Given the description of an element on the screen output the (x, y) to click on. 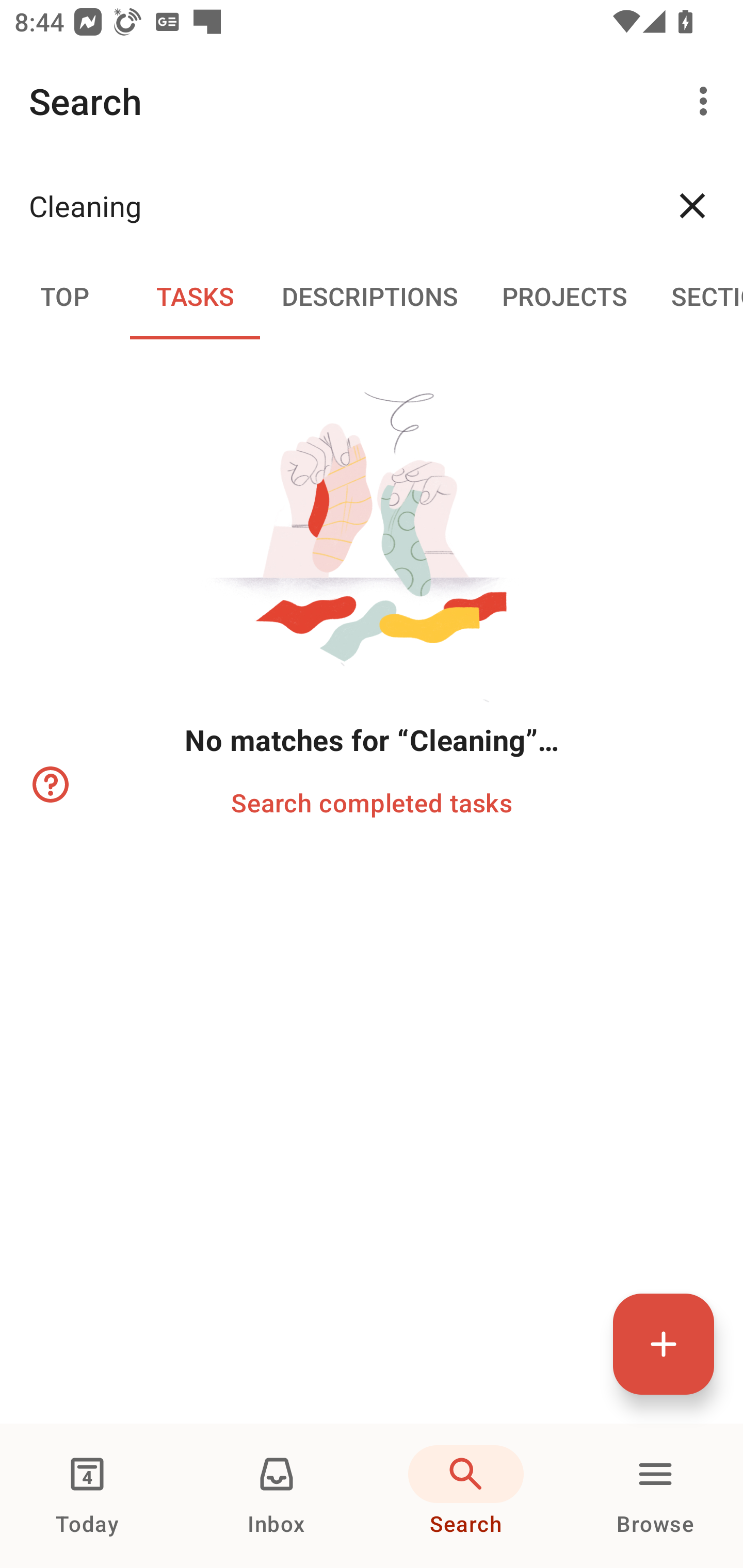
Search More options (371, 100)
More options (706, 101)
Cleaning (335, 205)
Clear (692, 205)
Top TOP (65, 295)
Descriptions DESCRIPTIONS (370, 295)
Projects PROJECTS (564, 295)
Learn how to refine your search (48, 784)
Search completed tasks (371, 801)
Quick add (663, 1343)
Today (87, 1495)
Inbox (276, 1495)
Browse (655, 1495)
